Given the description of an element on the screen output the (x, y) to click on. 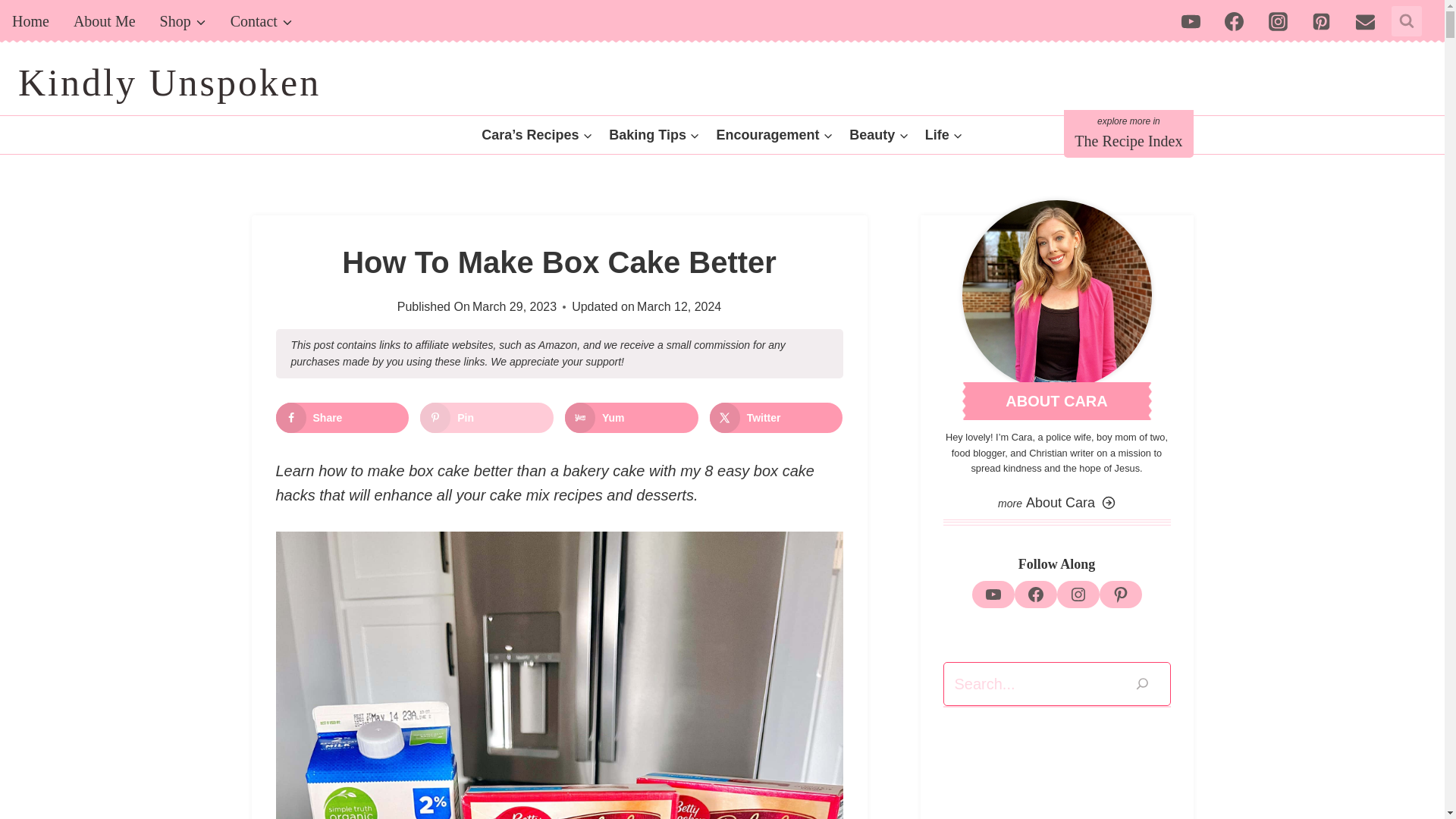
About Me (104, 21)
Beauty (879, 134)
Life (944, 134)
The Recipe Index (1128, 133)
Share on Facebook (342, 417)
Kindly Unspoken (168, 82)
Share on X (776, 417)
Contact (261, 21)
Baking Tips (653, 134)
Save to Pinterest (486, 417)
